Given the description of an element on the screen output the (x, y) to click on. 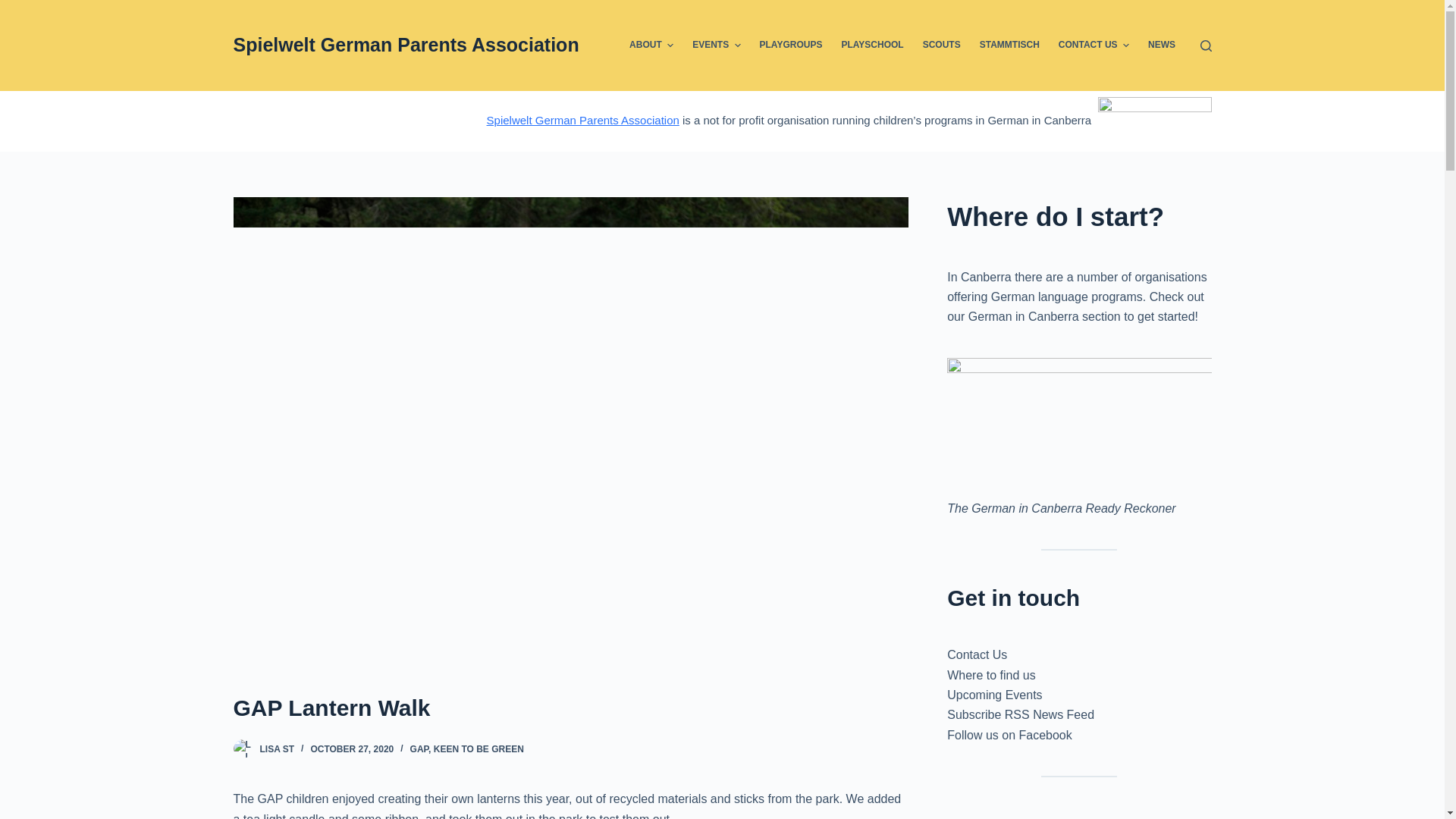
Posts by Lisa St (276, 748)
Spielwelt German Parents Association (405, 44)
GAP Lantern Walk (570, 707)
Skip to content (15, 7)
